Given the description of an element on the screen output the (x, y) to click on. 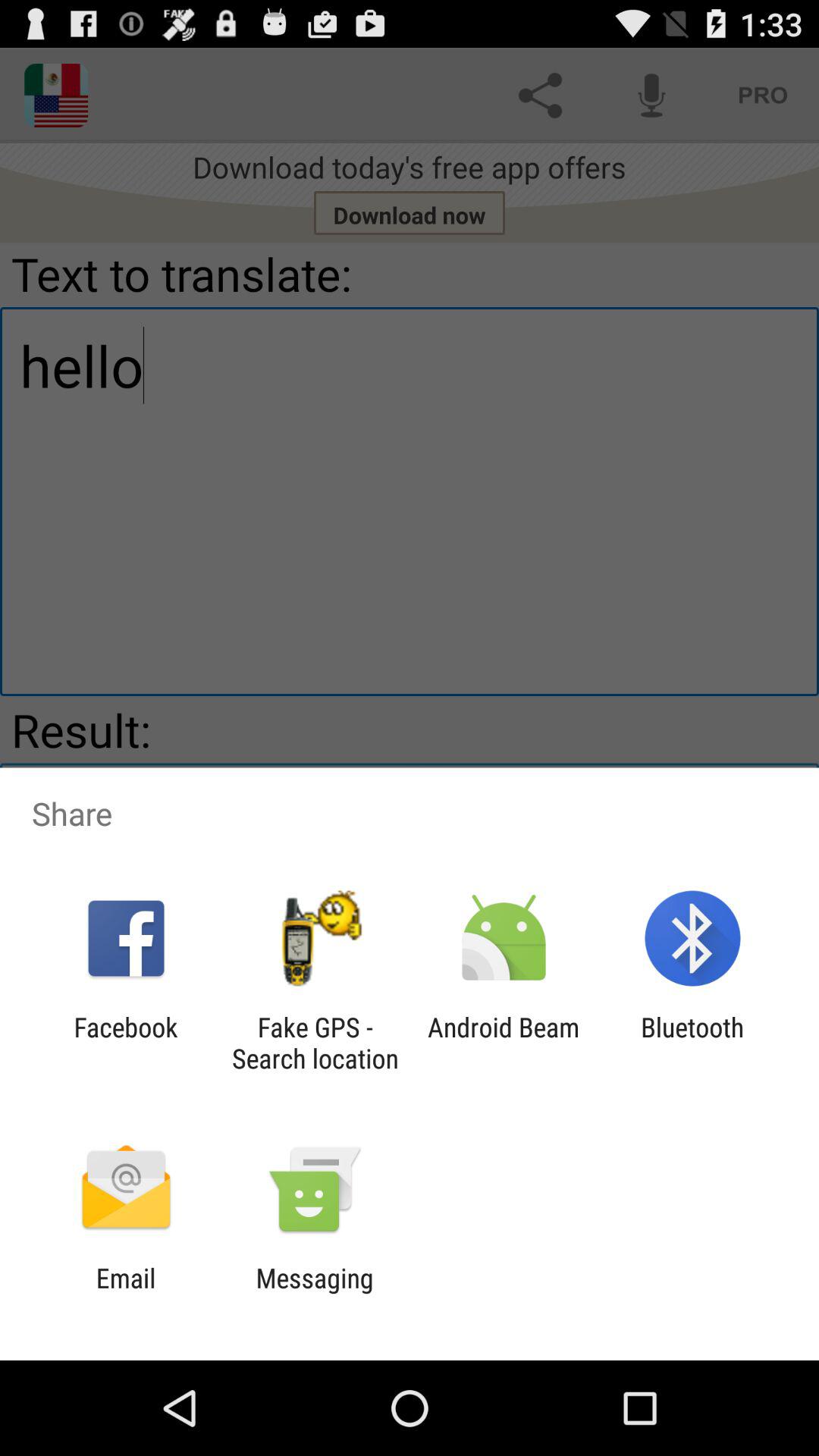
turn on the icon to the left of the android beam app (314, 1042)
